Given the description of an element on the screen output the (x, y) to click on. 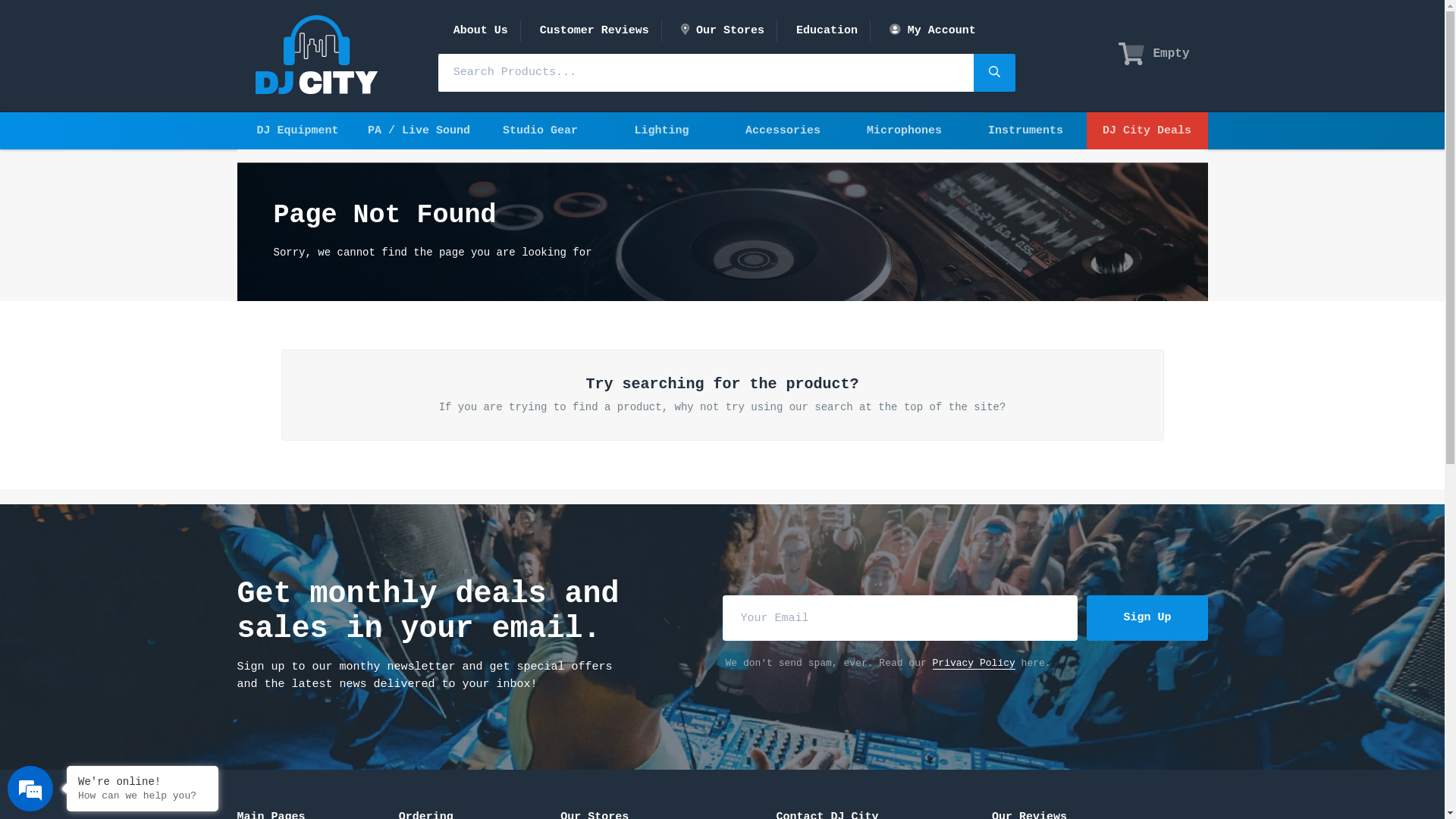
Microphones Element type: text (903, 130)
DJ Equipment Element type: text (296, 130)
My Account Element type: text (932, 30)
Our Stores Element type: text (722, 30)
Instruments Element type: text (1024, 130)
Studio Gear Element type: text (539, 130)
DJ City Deals Element type: text (1146, 130)
Lighting Element type: text (660, 130)
Education Element type: text (826, 30)
Customer Reviews Element type: text (594, 30)
About Us Element type: text (480, 30)
Accessories Element type: text (782, 130)
PA / Live Sound Element type: text (418, 130)
Empty Element type: text (1153, 53)
Privacy Policy Element type: text (973, 663)
Sign Up Element type: text (1146, 617)
